Given the description of an element on the screen output the (x, y) to click on. 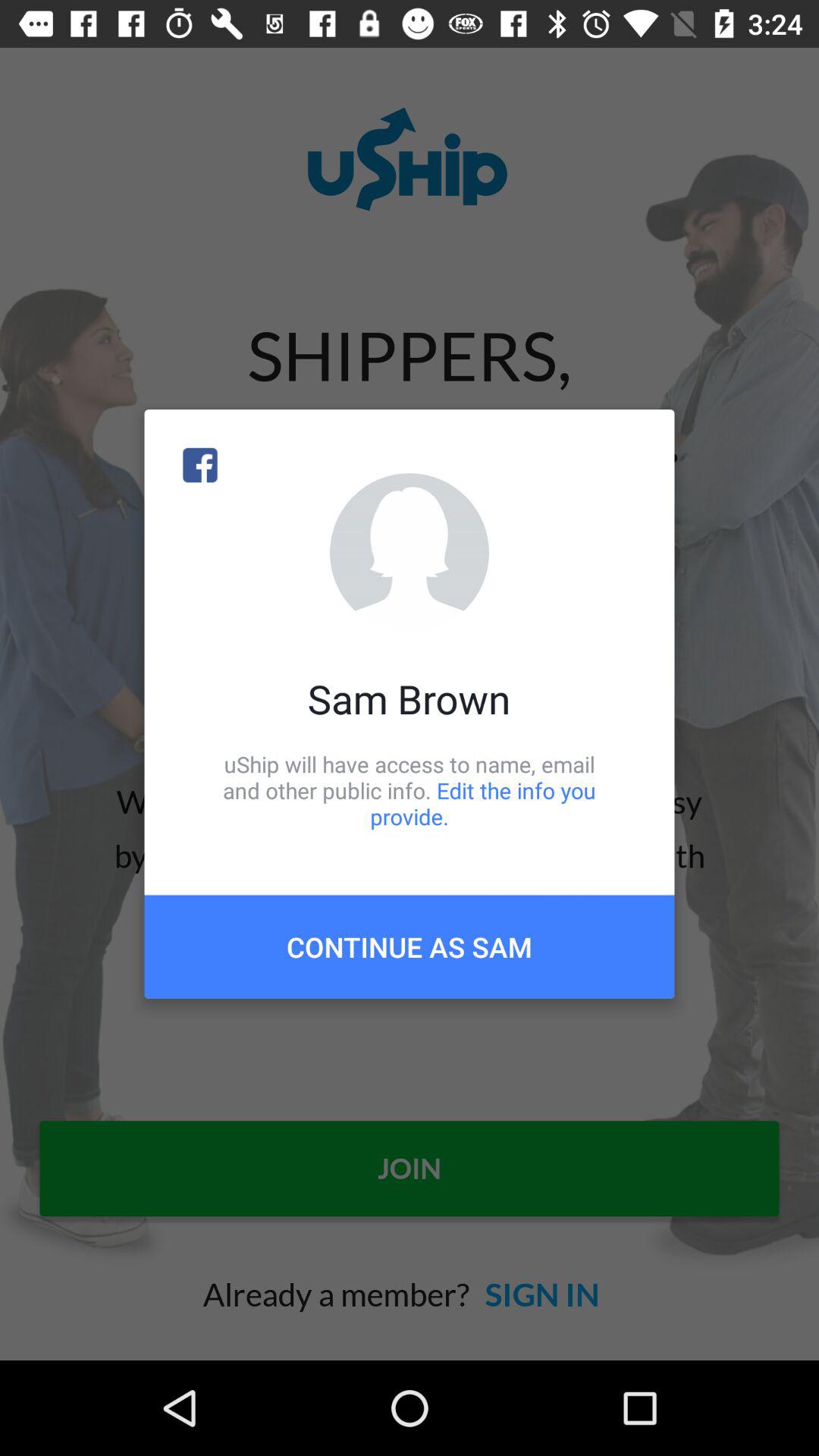
select the icon above continue as sam (409, 790)
